Given the description of an element on the screen output the (x, y) to click on. 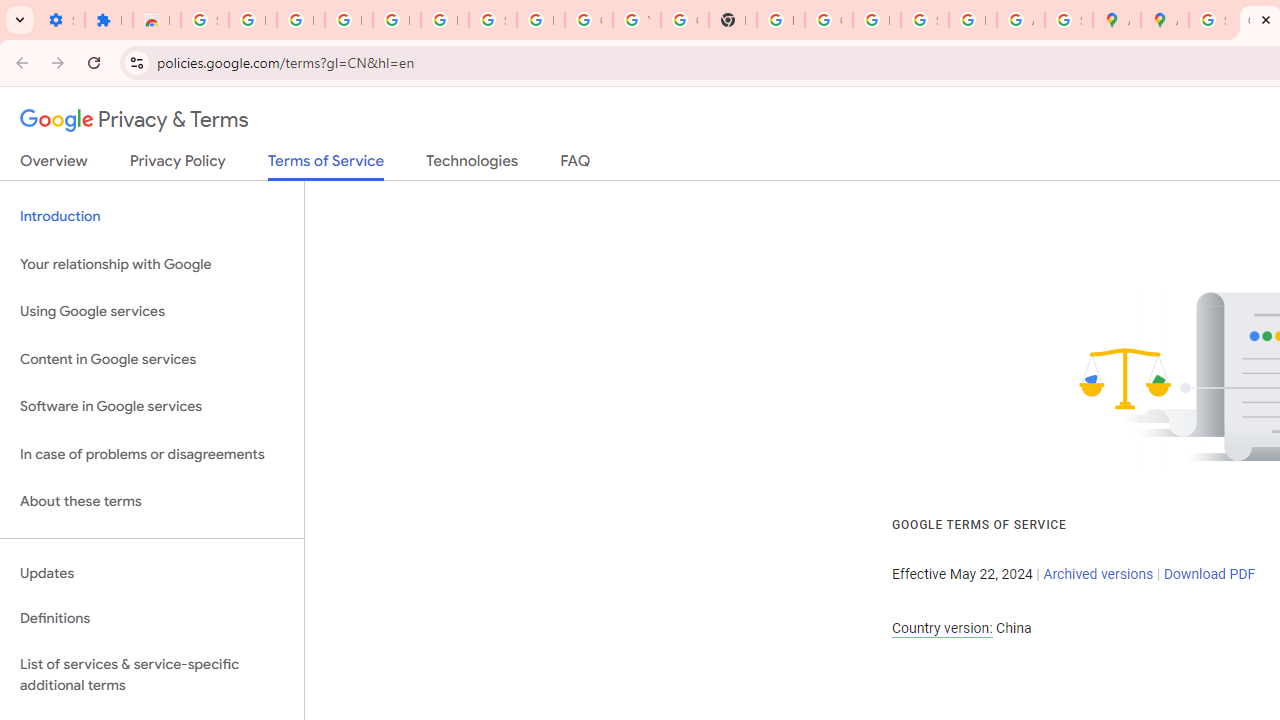
In case of problems or disagreements (152, 453)
Google Account (588, 20)
Definitions (152, 619)
https://scholar.google.com/ (780, 20)
Archived versions (1098, 574)
Country version: (942, 628)
Sign in - Google Accounts (204, 20)
YouTube (636, 20)
Content in Google services (152, 358)
